Given the description of an element on the screen output the (x, y) to click on. 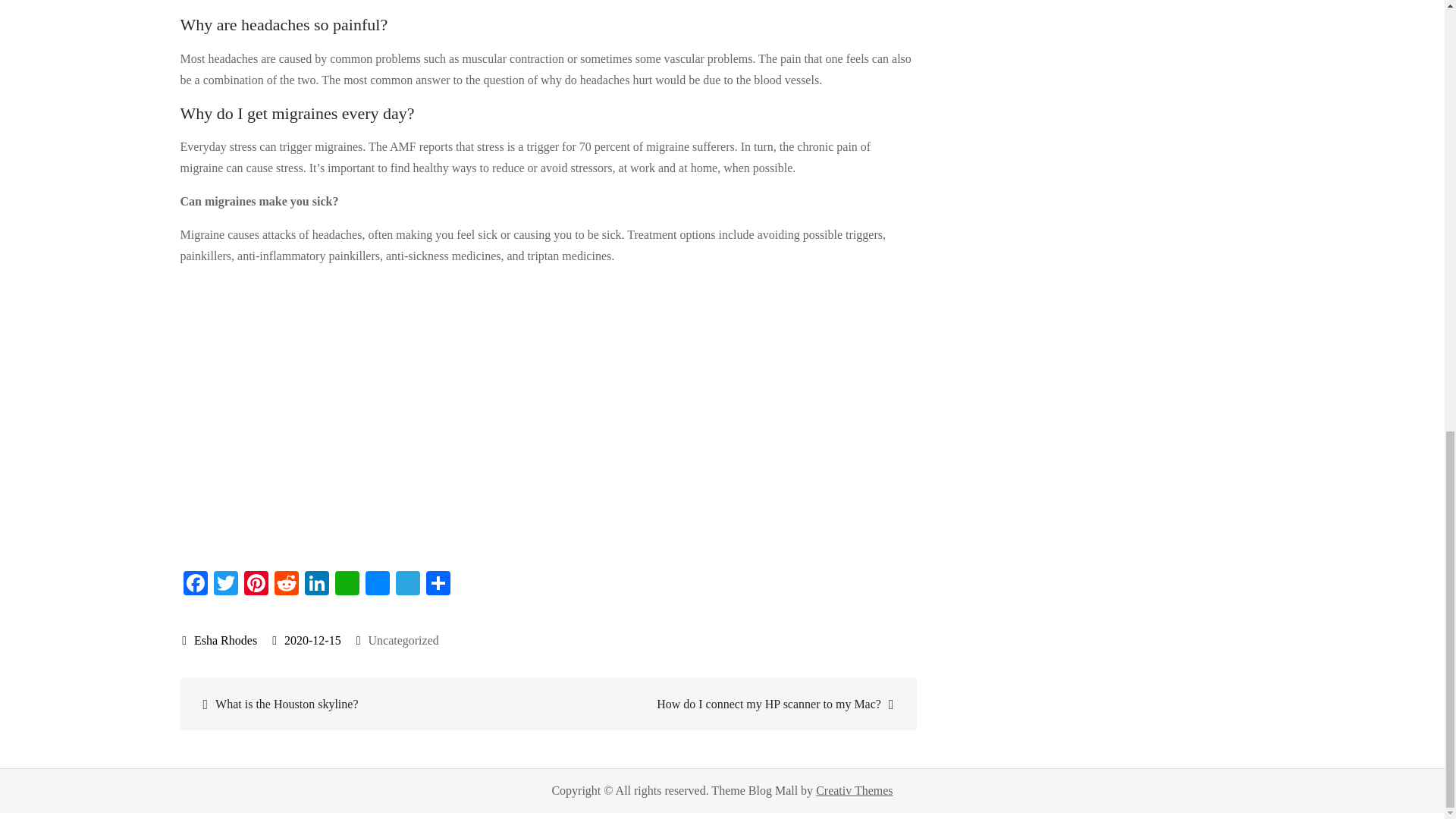
WhatsApp (346, 584)
Reddit (285, 584)
2020-12-15 (306, 640)
Twitter (226, 584)
The difference between a migraine and headaches (422, 415)
Telegram (408, 584)
Messenger (377, 584)
Pinterest (255, 584)
LinkedIn (316, 584)
Facebook (195, 584)
How do I connect my HP scanner to my Mac? (730, 703)
What is the Houston skyline? (366, 703)
Messenger (377, 584)
Reddit (285, 584)
Facebook (195, 584)
